Given the description of an element on the screen output the (x, y) to click on. 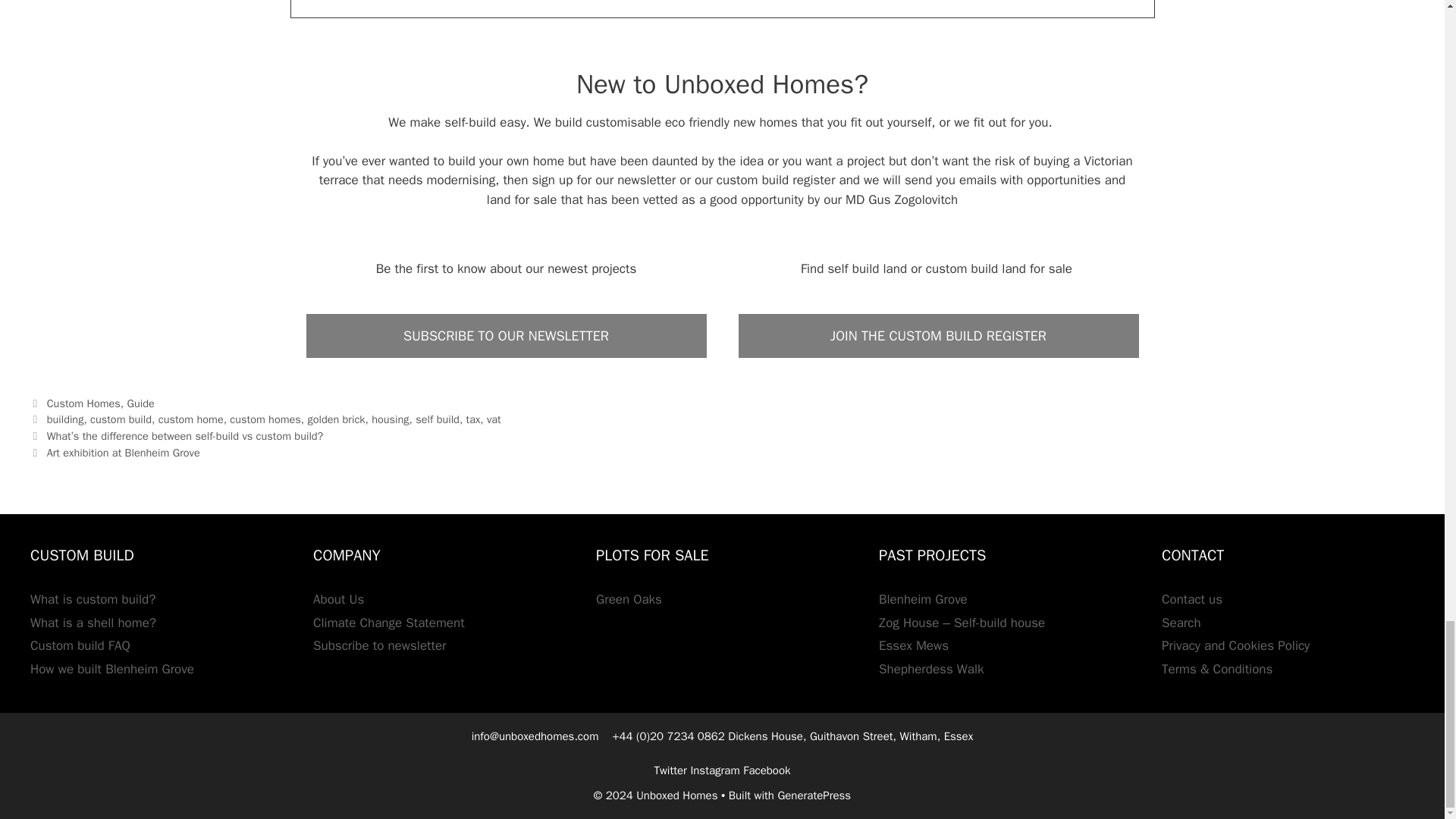
custom home (191, 418)
Climate Change Statement (388, 622)
Custom build FAQ (80, 645)
custom homes (264, 418)
Guide (141, 403)
golden brick (336, 418)
JOIN THE CUSTOM BUILD REGISTER (937, 335)
building (65, 418)
custom build (120, 418)
Blenheim Grove (923, 599)
